Given the description of an element on the screen output the (x, y) to click on. 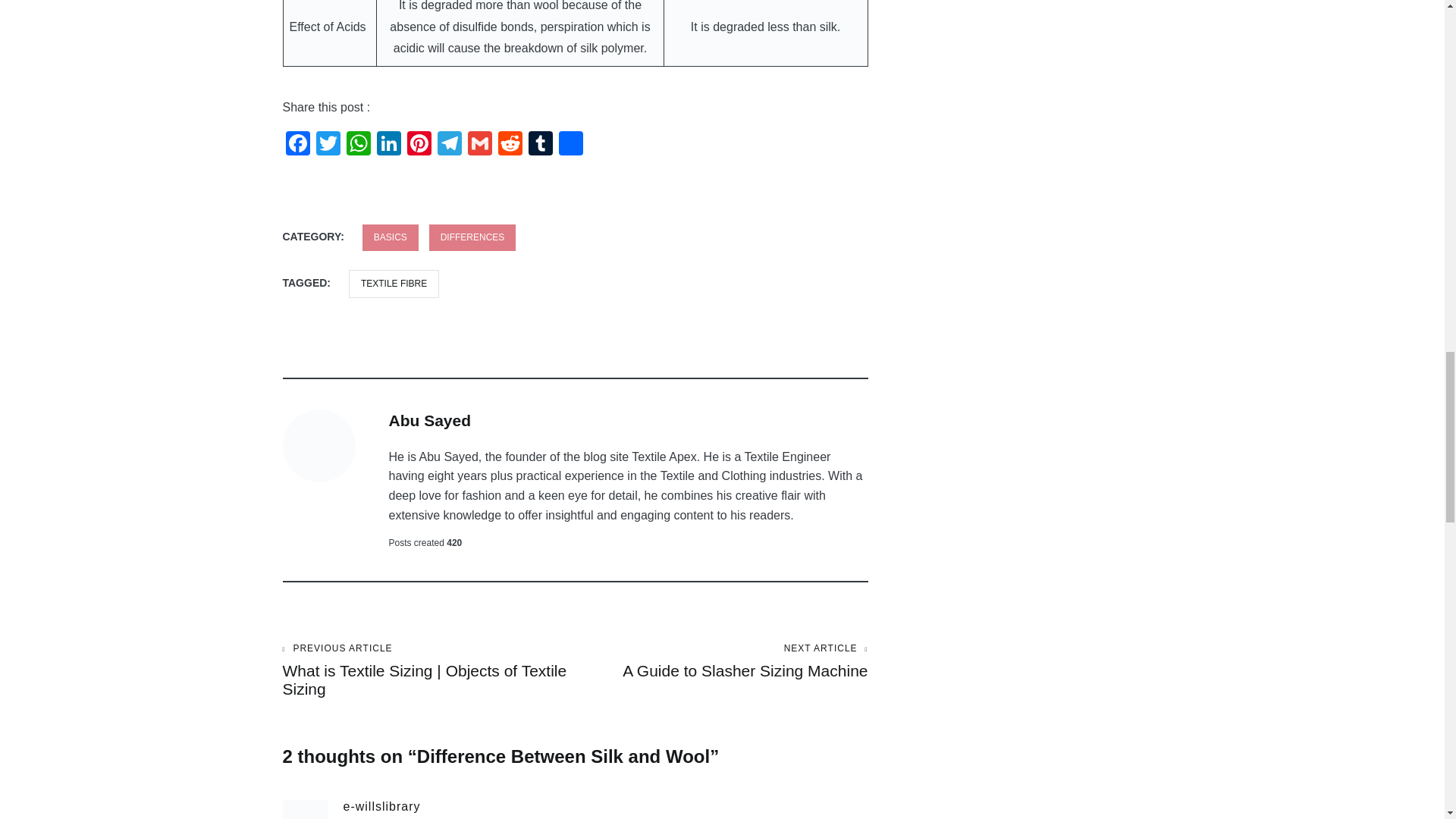
Reddit (509, 144)
Twitter (327, 144)
Gmail (479, 144)
LinkedIn (387, 144)
WhatsApp (357, 144)
Telegram (448, 144)
Posts by Abu Sayed (429, 420)
Facebook (297, 144)
Tumblr (539, 144)
Pinterest (418, 144)
